Given the description of an element on the screen output the (x, y) to click on. 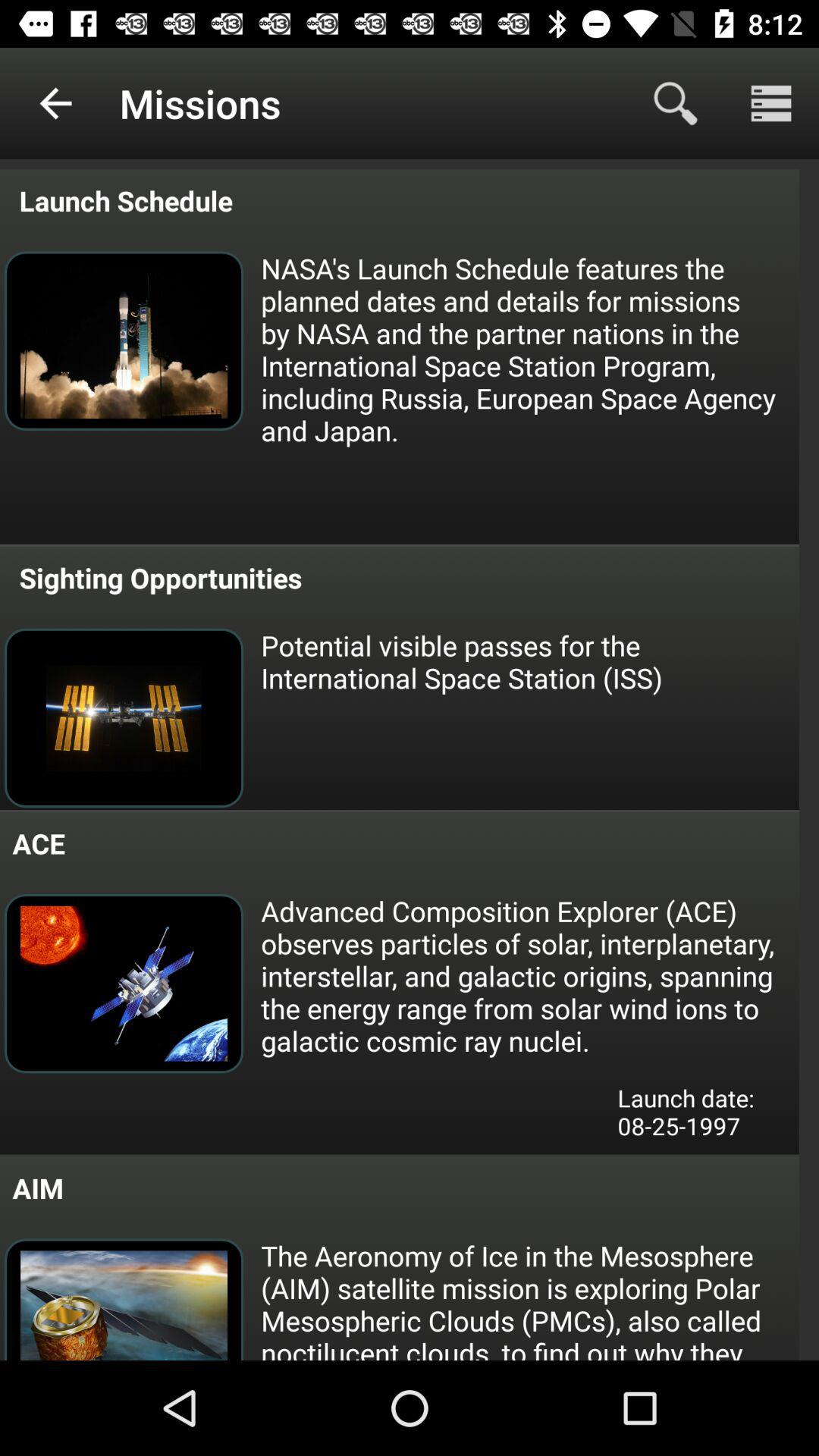
tap the icon below the launch date 08 (528, 1298)
